Given the description of an element on the screen output the (x, y) to click on. 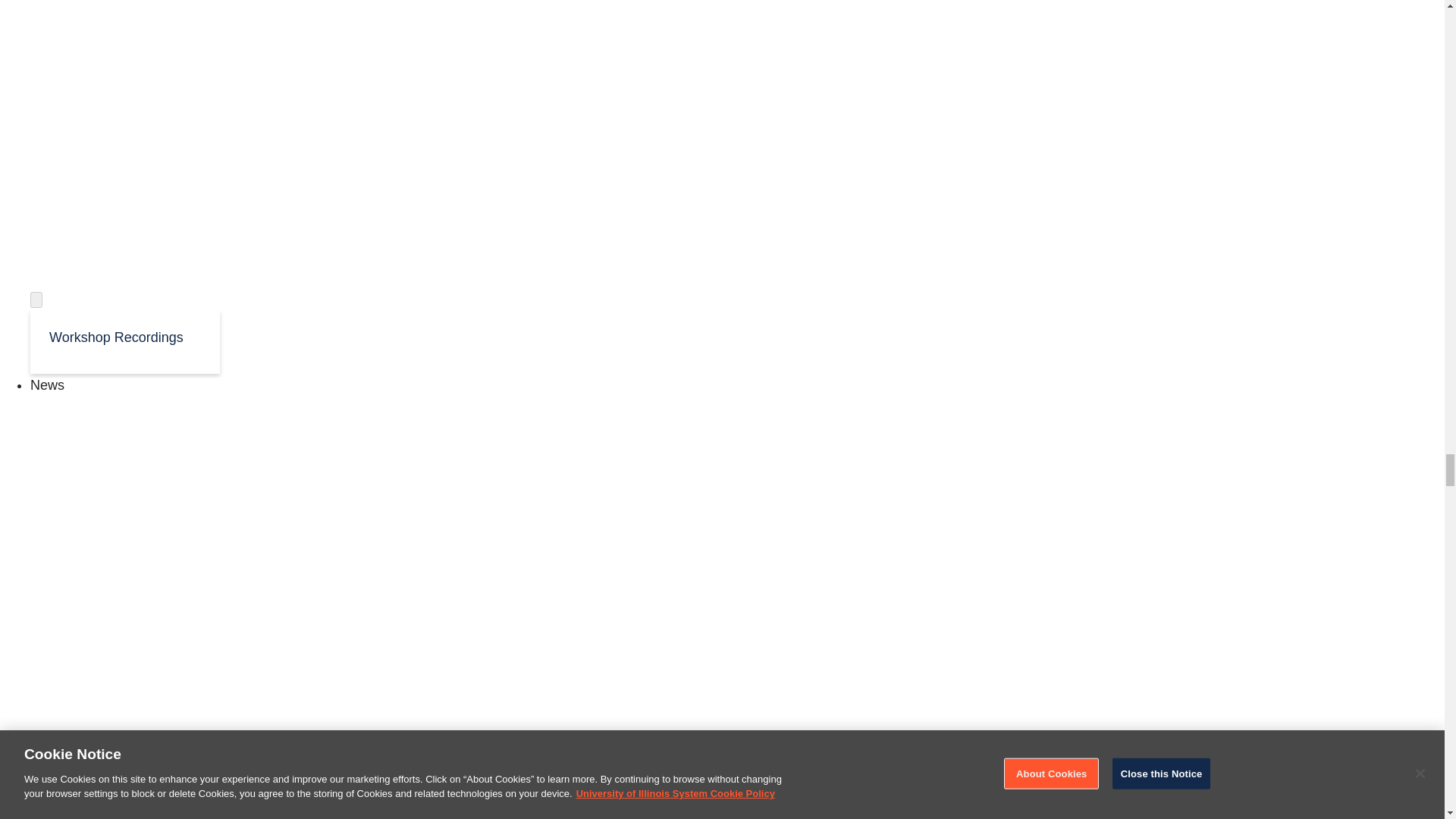
News (47, 385)
Workshop Recordings (125, 335)
